Given the description of an element on the screen output the (x, y) to click on. 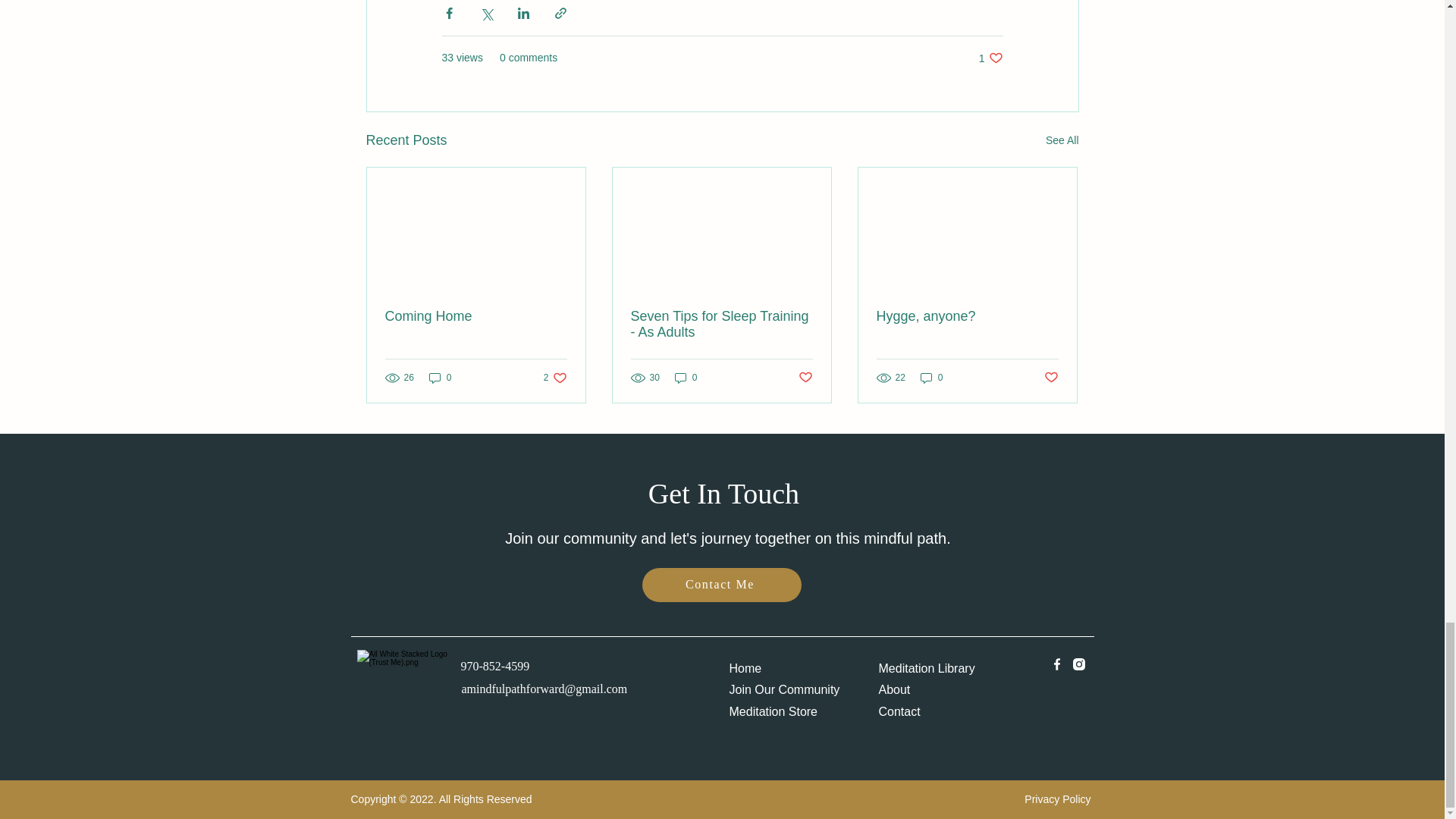
Hygge, anyone? (967, 316)
Coming Home (990, 57)
Post not marked as liked (476, 316)
0 (1050, 377)
0 (440, 377)
Contact Me (685, 377)
0 (721, 584)
Seven Tips for Sleep Training - As Adults (555, 377)
